Given the description of an element on the screen output the (x, y) to click on. 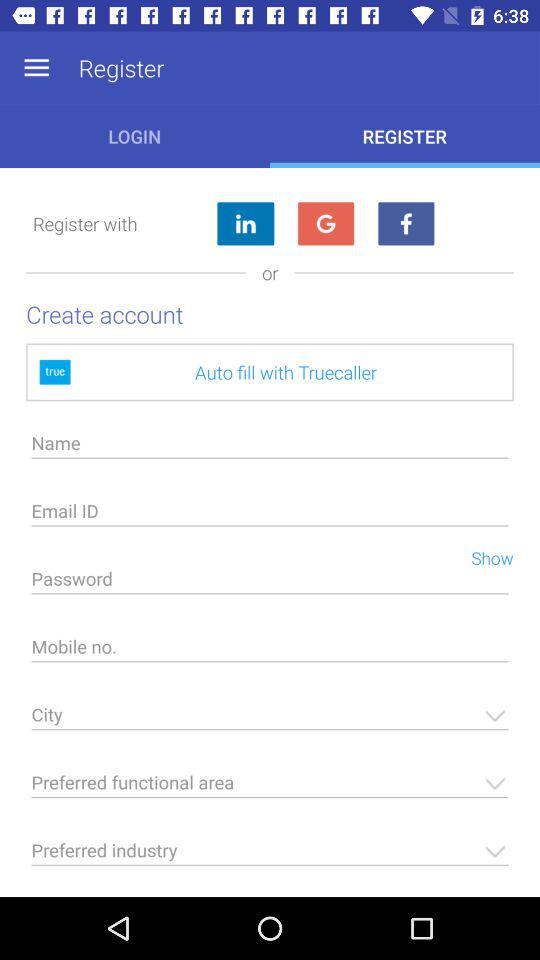
insert city name (269, 720)
